Given the description of an element on the screen output the (x, y) to click on. 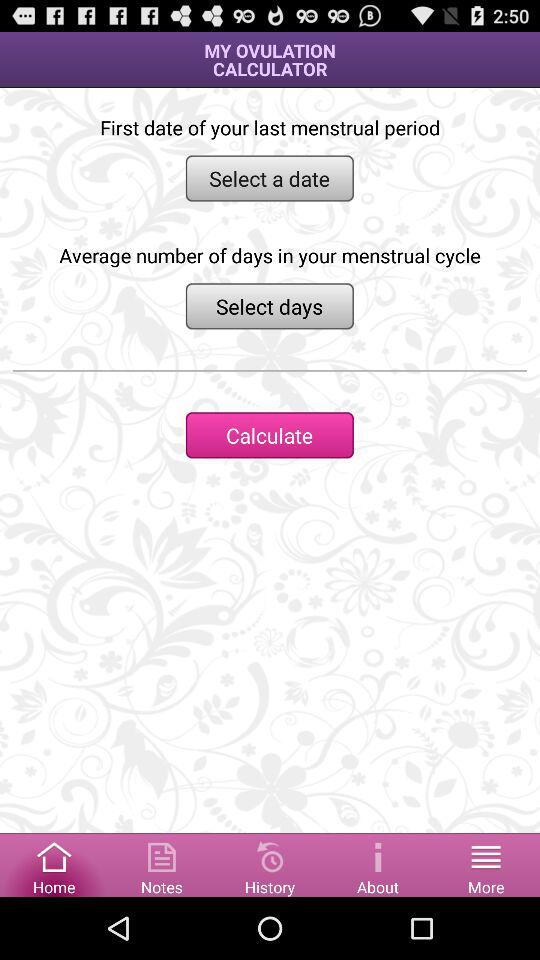
go to home button (54, 864)
